Given the description of an element on the screen output the (x, y) to click on. 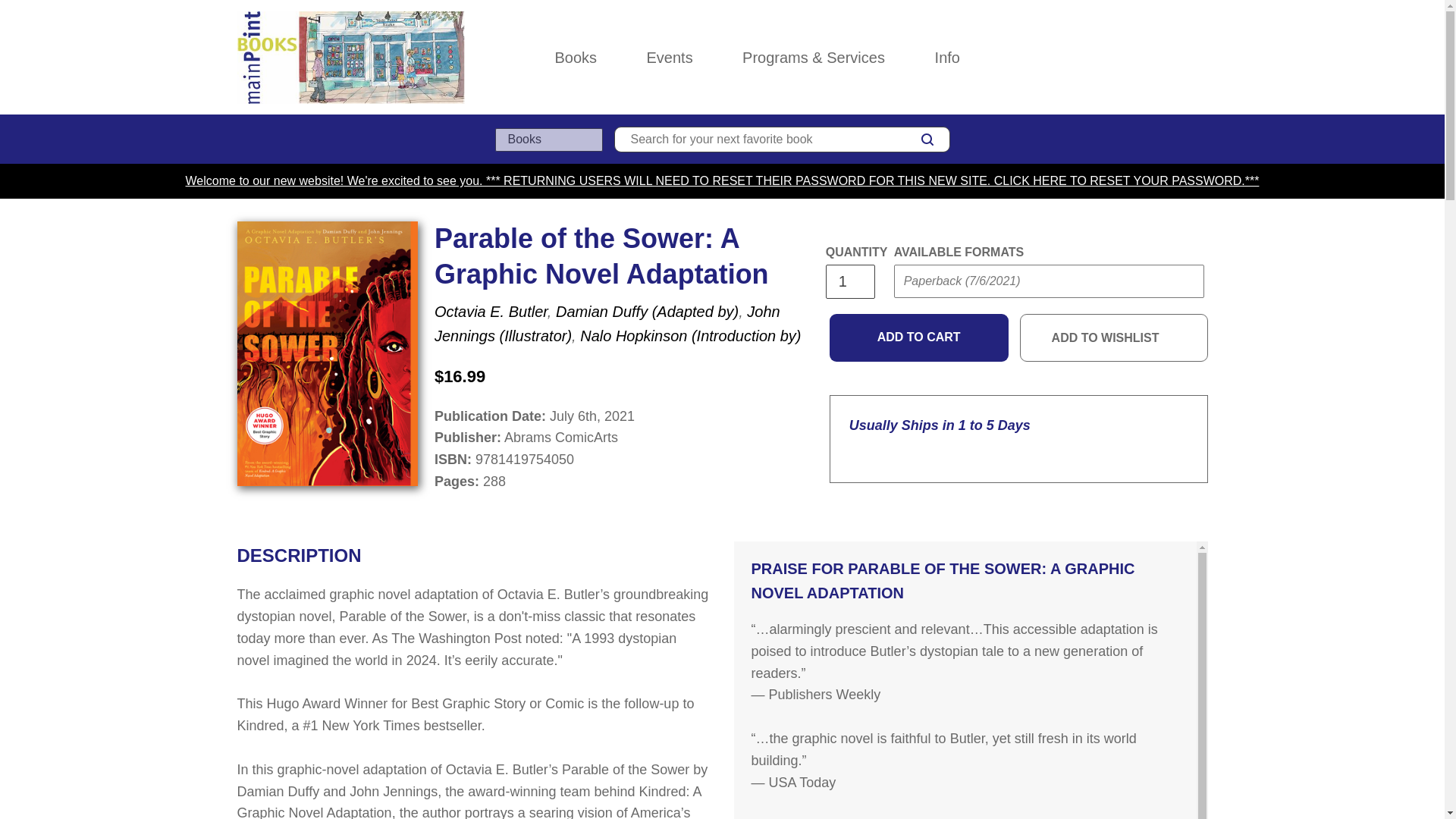
Cart (1201, 57)
ADD TO WISHLIST (1114, 337)
Log in (1134, 57)
Add to cart (919, 337)
Cart (1201, 57)
Submit (922, 311)
Octavia E. Butler (490, 311)
1 (850, 281)
Add to cart (919, 337)
SEARCH (926, 139)
Wishlists (1168, 57)
Books (575, 57)
Log in (1134, 57)
Wishlist (1168, 57)
